Given the description of an element on the screen output the (x, y) to click on. 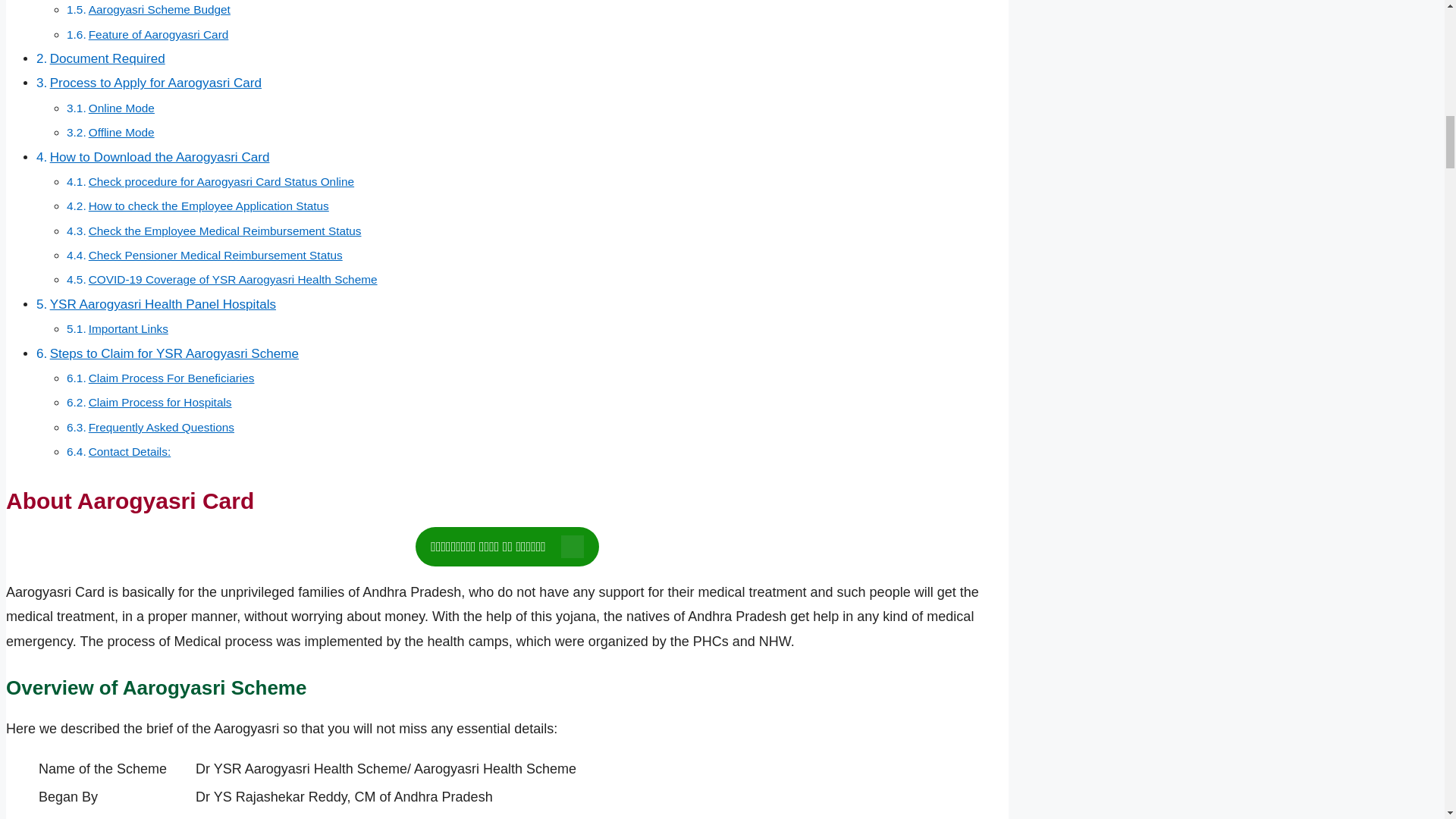
Steps to Claim for YSR Aarogyasri Scheme (173, 353)
Claim Process for Hospitals (159, 401)
COVID-19 Coverage of YSR Aarogyasri Health Scheme (232, 278)
Frequently Asked Questions (161, 427)
Process to Apply for Aarogyasri Card (155, 83)
Contact Details: (129, 451)
How to check the Employee Application Status (208, 205)
Claim Process For Beneficiaries (171, 377)
Check Pensioner Medical Reimbursement Status (215, 254)
YSR Aarogyasri Health Panel Hospitals (162, 304)
Check procedure for Aarogyasri Card Status Online (220, 181)
Aarogyasri Scheme Budget (159, 9)
Online Mode (121, 107)
Important Links (128, 328)
How to Download the Aarogyasri Card (159, 156)
